Given the description of an element on the screen output the (x, y) to click on. 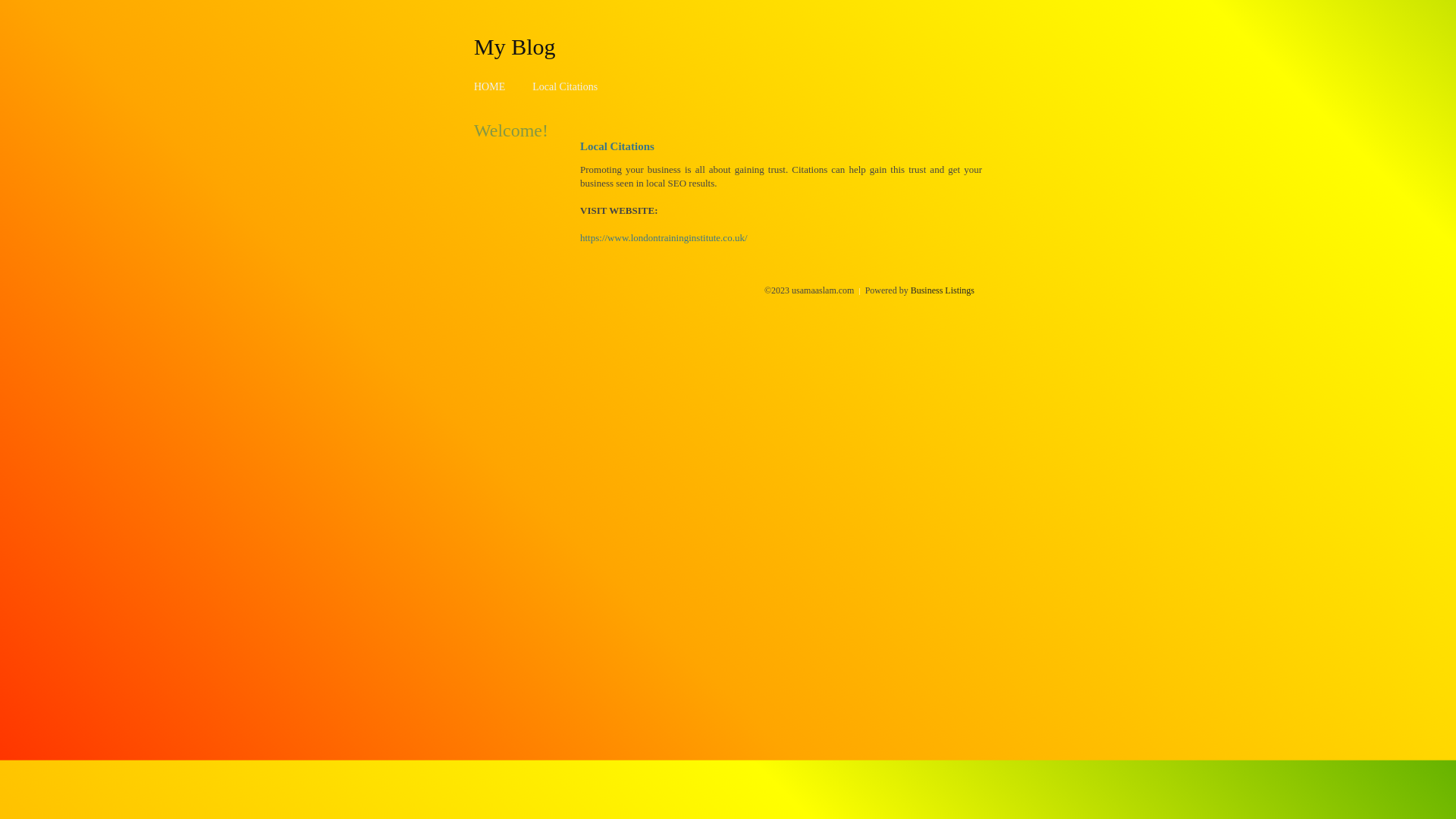
Business Listings Element type: text (942, 290)
My Blog Element type: text (514, 46)
Local Citations Element type: text (564, 86)
HOME Element type: text (489, 86)
https://www.londontraininginstitute.co.uk/ Element type: text (663, 237)
